Given the description of an element on the screen output the (x, y) to click on. 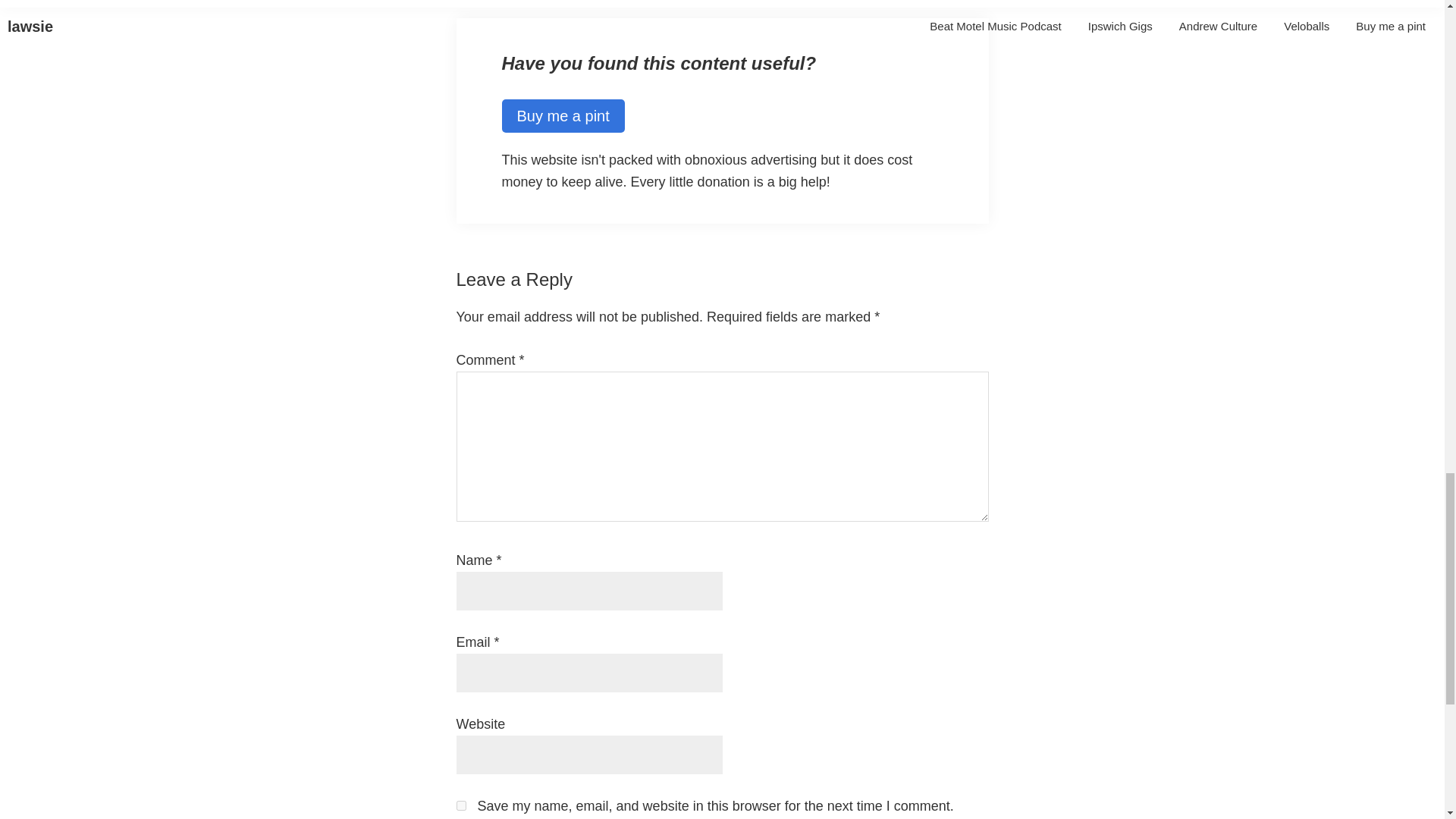
Buy me a pint (563, 115)
yes (461, 805)
